Given the description of an element on the screen output the (x, y) to click on. 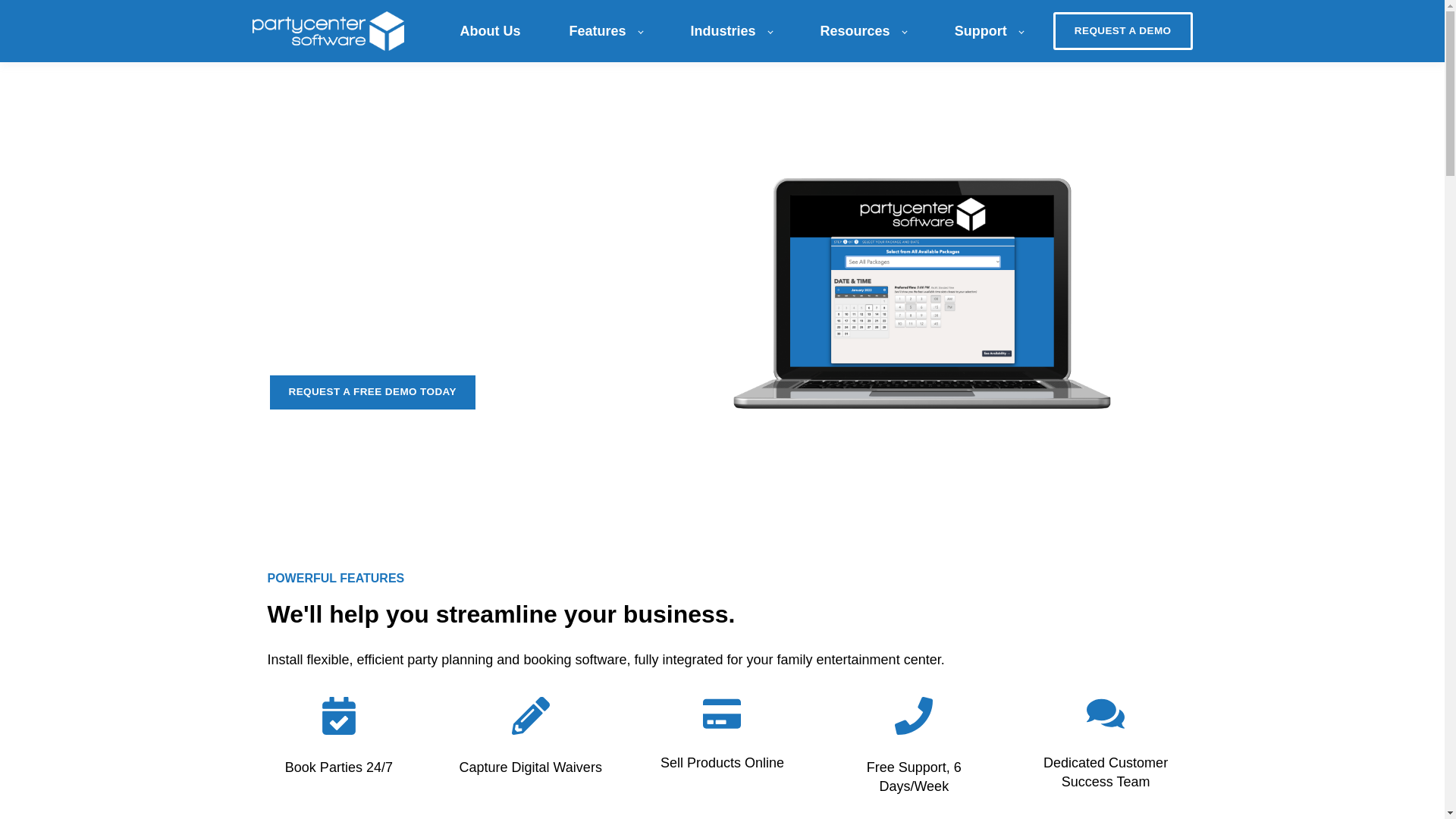
Support (989, 30)
Features (605, 30)
Industries (730, 30)
About Us (489, 30)
Resources (863, 30)
